Given the description of an element on the screen output the (x, y) to click on. 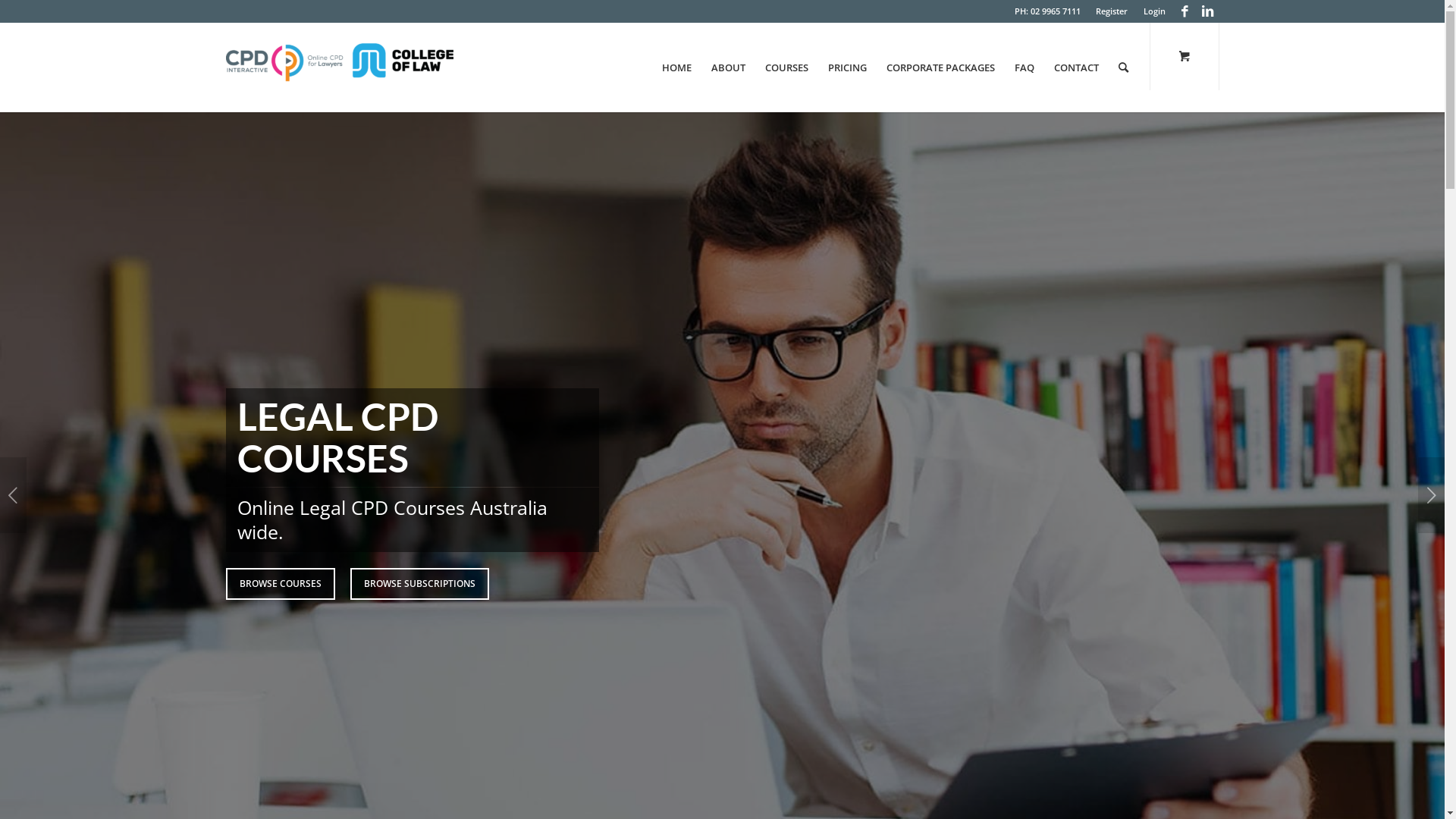
BROWSE COURSES Element type: text (280, 583)
Next Element type: text (1431, 495)
Previous Element type: text (13, 495)
Register Element type: text (1110, 10)
Facebook Element type: hover (1184, 11)
CONTACT Element type: text (1075, 67)
ABOUT Element type: text (727, 67)
LinkedIn Element type: hover (1207, 11)
PRICING Element type: text (846, 67)
CORPORATE PACKAGES Element type: text (940, 67)
HOME Element type: text (676, 67)
COURSES Element type: text (786, 67)
Login Element type: text (1154, 10)
BROWSE SUBSCRIPTIONS Element type: text (419, 583)
FAQ Element type: text (1023, 67)
